Given the description of an element on the screen output the (x, y) to click on. 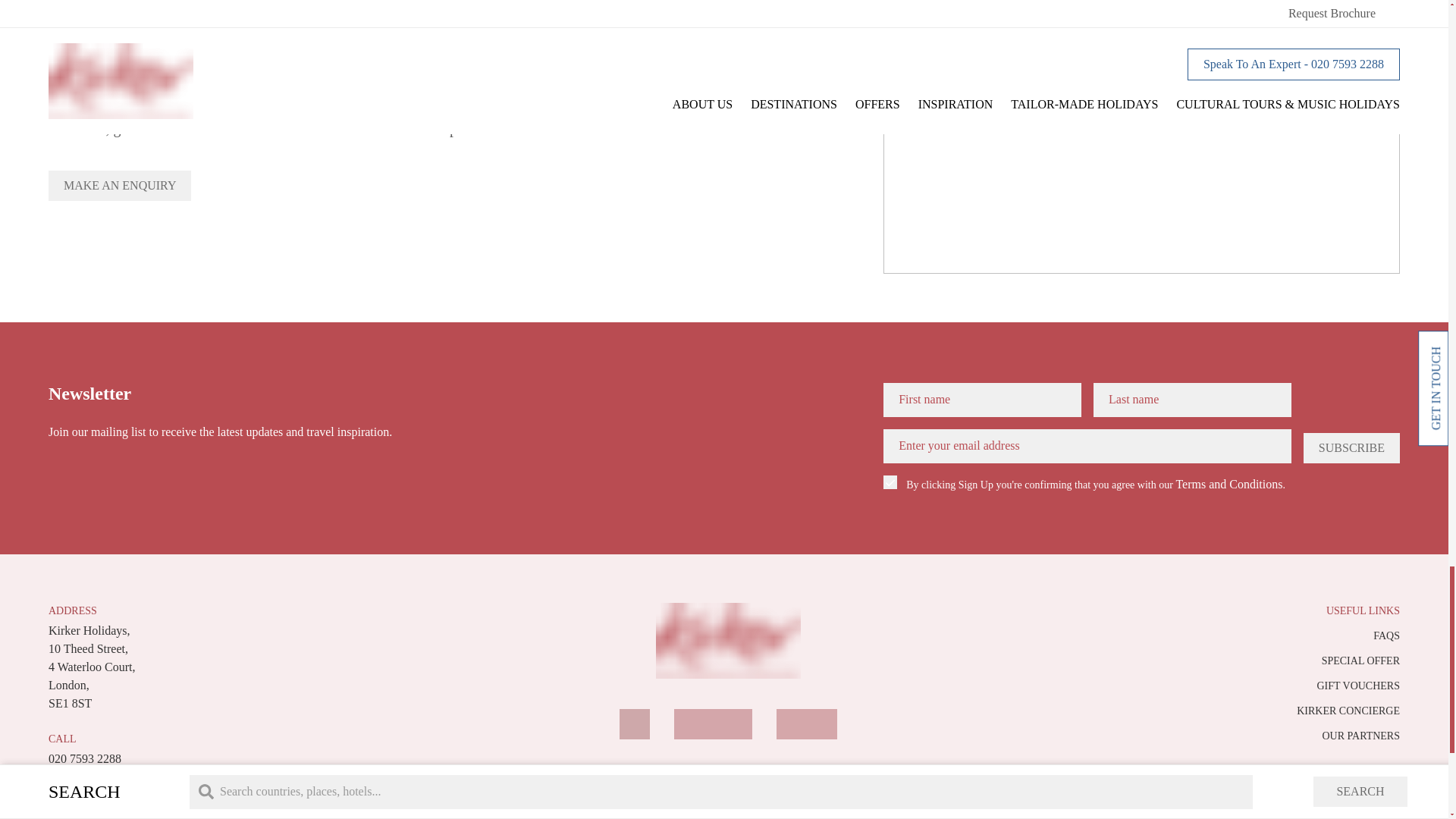
on (889, 481)
